Given the description of an element on the screen output the (x, y) to click on. 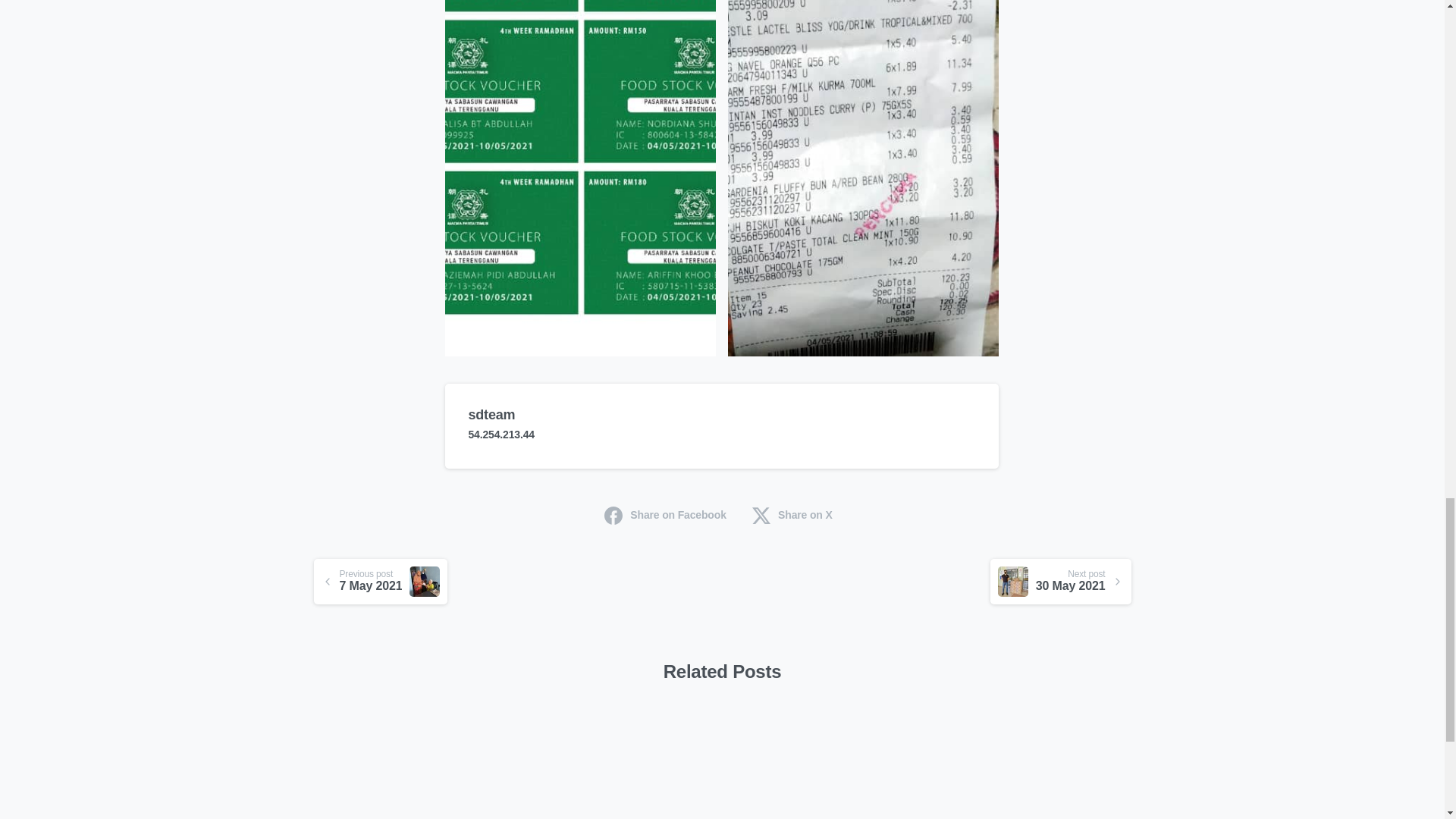
54.254.213.44 (500, 434)
Share on Facebook (664, 514)
Share on X (1060, 581)
Click to share this post on Twitter (792, 514)
sdteam (792, 514)
